Given the description of an element on the screen output the (x, y) to click on. 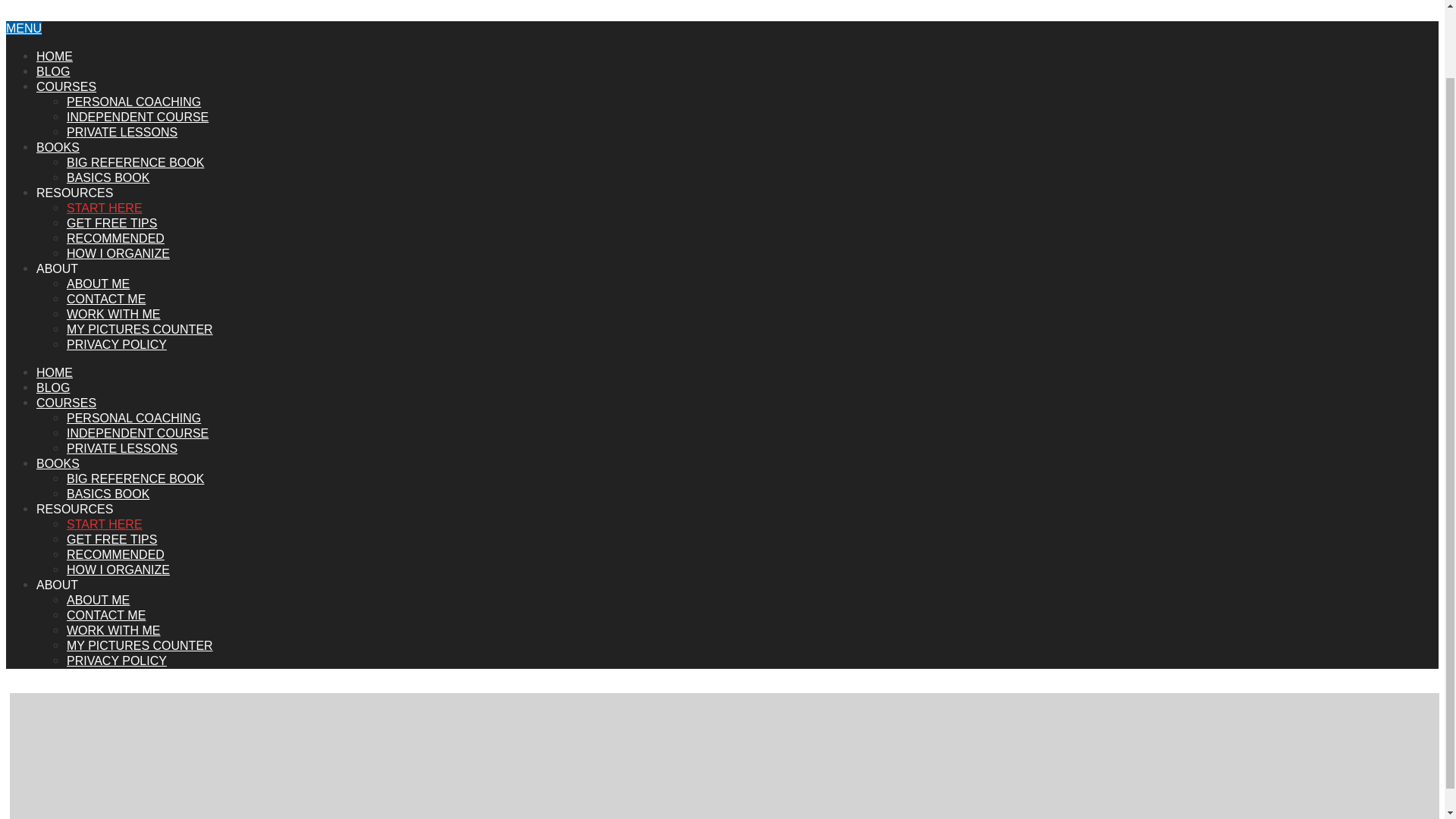
CONTACT ME (105, 615)
START HERE (104, 523)
Personal coaching for organizing your media (133, 418)
BLOG (52, 71)
HOME (54, 372)
BIG REFERENCE BOOK (134, 162)
PRIVATE LESSONS (121, 448)
INDEPENDENT COURSE (137, 432)
